Given the description of an element on the screen output the (x, y) to click on. 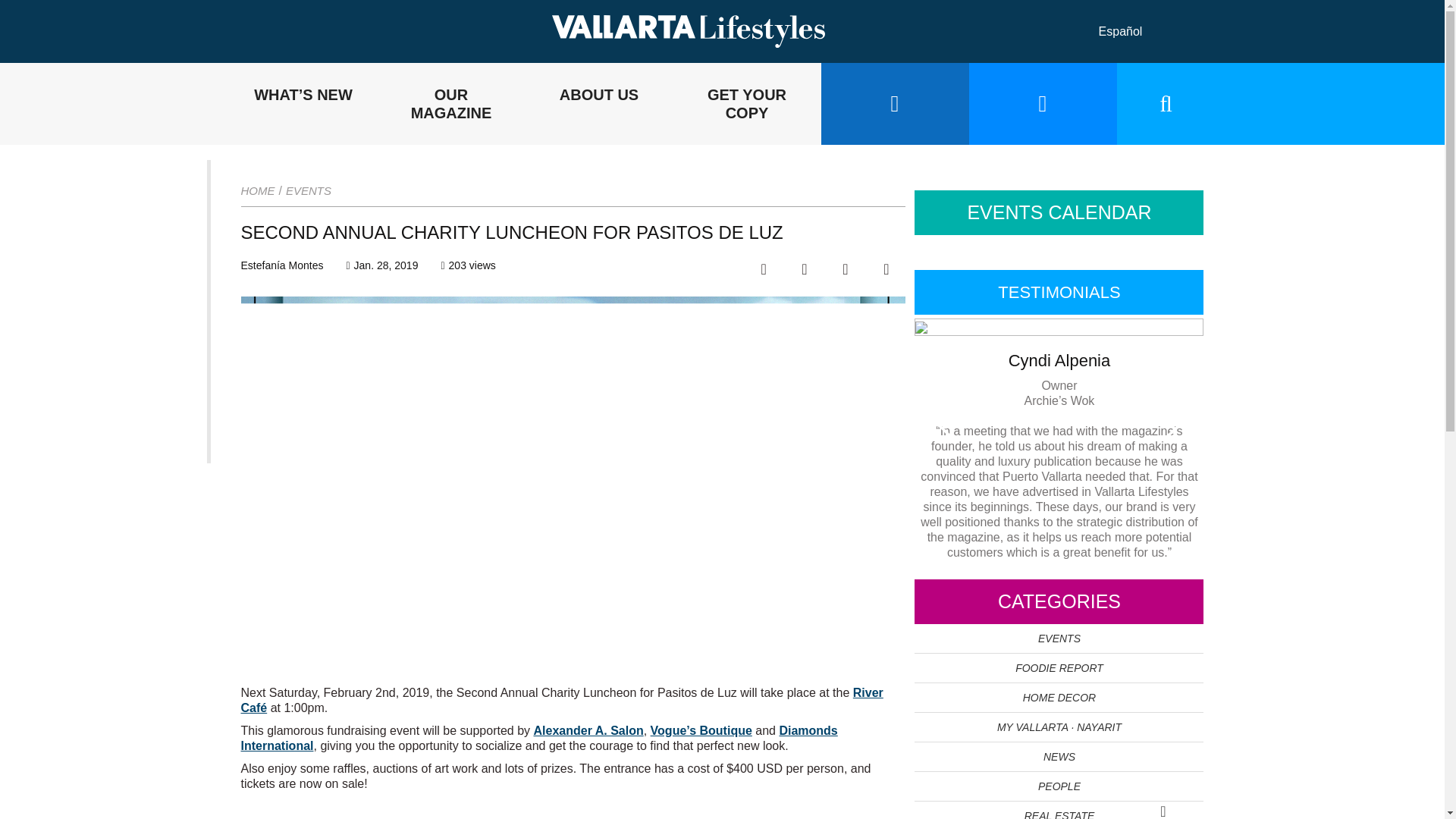
Diamonds International (539, 737)
HOME (258, 190)
EVENTS (308, 190)
Alexander A. Salon (587, 730)
ABOUT US (598, 103)
GET YOUR COPY (746, 103)
OUR MAGAZINE (451, 103)
